Given the description of an element on the screen output the (x, y) to click on. 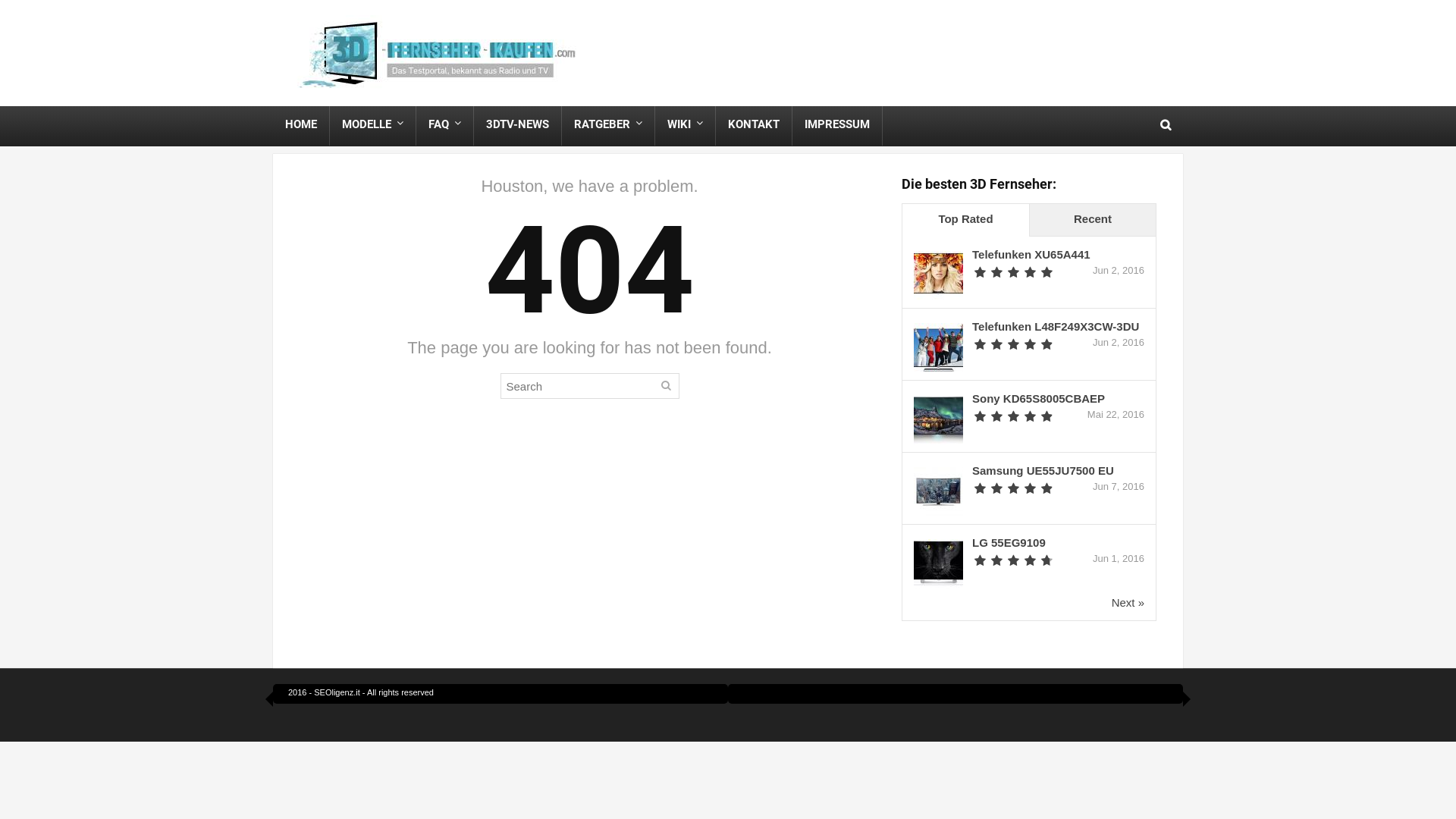
Telefunken L48F249X3CW-3DU Element type: text (1055, 326)
Samsung UE55JU7500 EU Element type: text (1042, 470)
MODELLE Element type: text (372, 124)
Top Rated Element type: text (965, 219)
LG 55EG9109 Element type: text (1008, 542)
WIKI Element type: text (685, 124)
IMPRESSUM Element type: text (836, 124)
Recent Element type: text (1092, 219)
FAQ Element type: text (444, 124)
Sony KD65S8005CBAEP Element type: text (1038, 398)
3DTV-NEWS Element type: text (517, 124)
RATGEBER Element type: text (607, 124)
KONTAKT Element type: text (753, 124)
HOME Element type: text (301, 124)
Telefunken XU65A441 Element type: text (1031, 253)
